Given the description of an element on the screen output the (x, y) to click on. 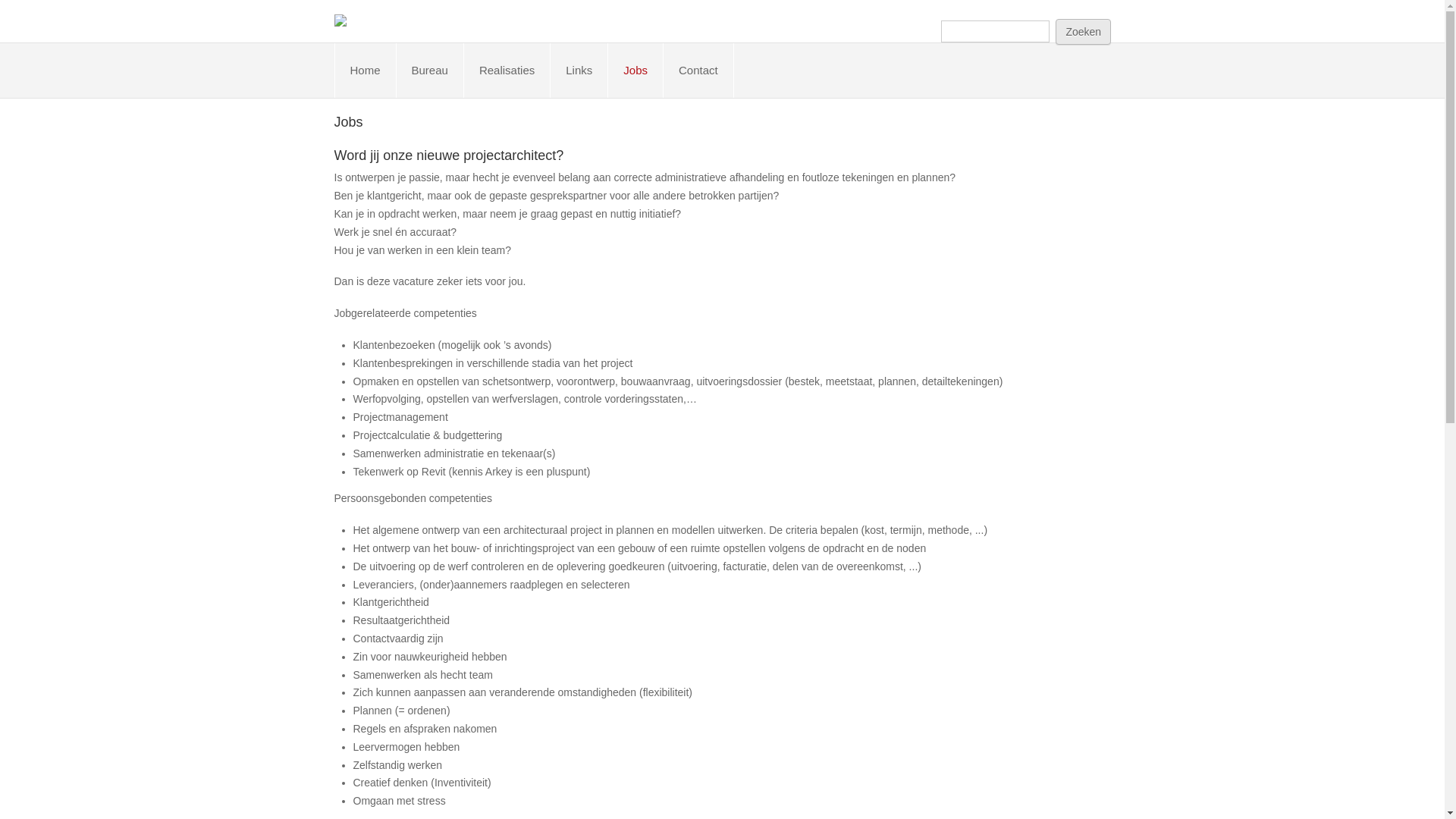
Geef de woorden op waarnaar u wilt zoeken. Element type: hover (994, 31)
Home Element type: hover (339, 20)
Home Element type: text (365, 70)
Bureau Element type: text (429, 70)
Links Element type: text (578, 70)
Jobs Element type: text (635, 70)
Realisaties Element type: text (506, 70)
Contact Element type: text (698, 70)
Zoeken Element type: text (1082, 31)
